Given the description of an element on the screen output the (x, y) to click on. 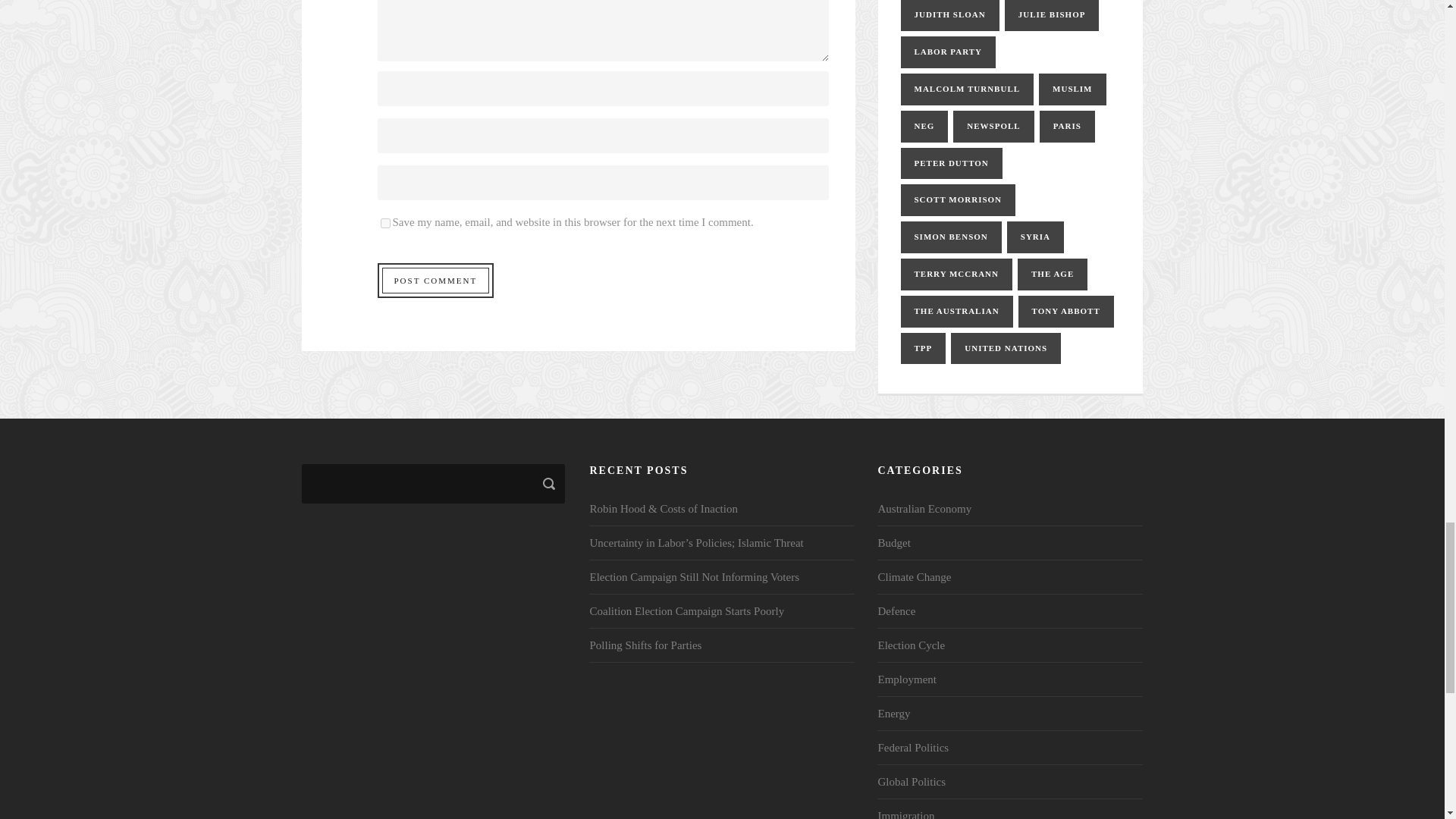
yes (385, 223)
Post Comment (436, 280)
Post Comment (436, 280)
